Given the description of an element on the screen output the (x, y) to click on. 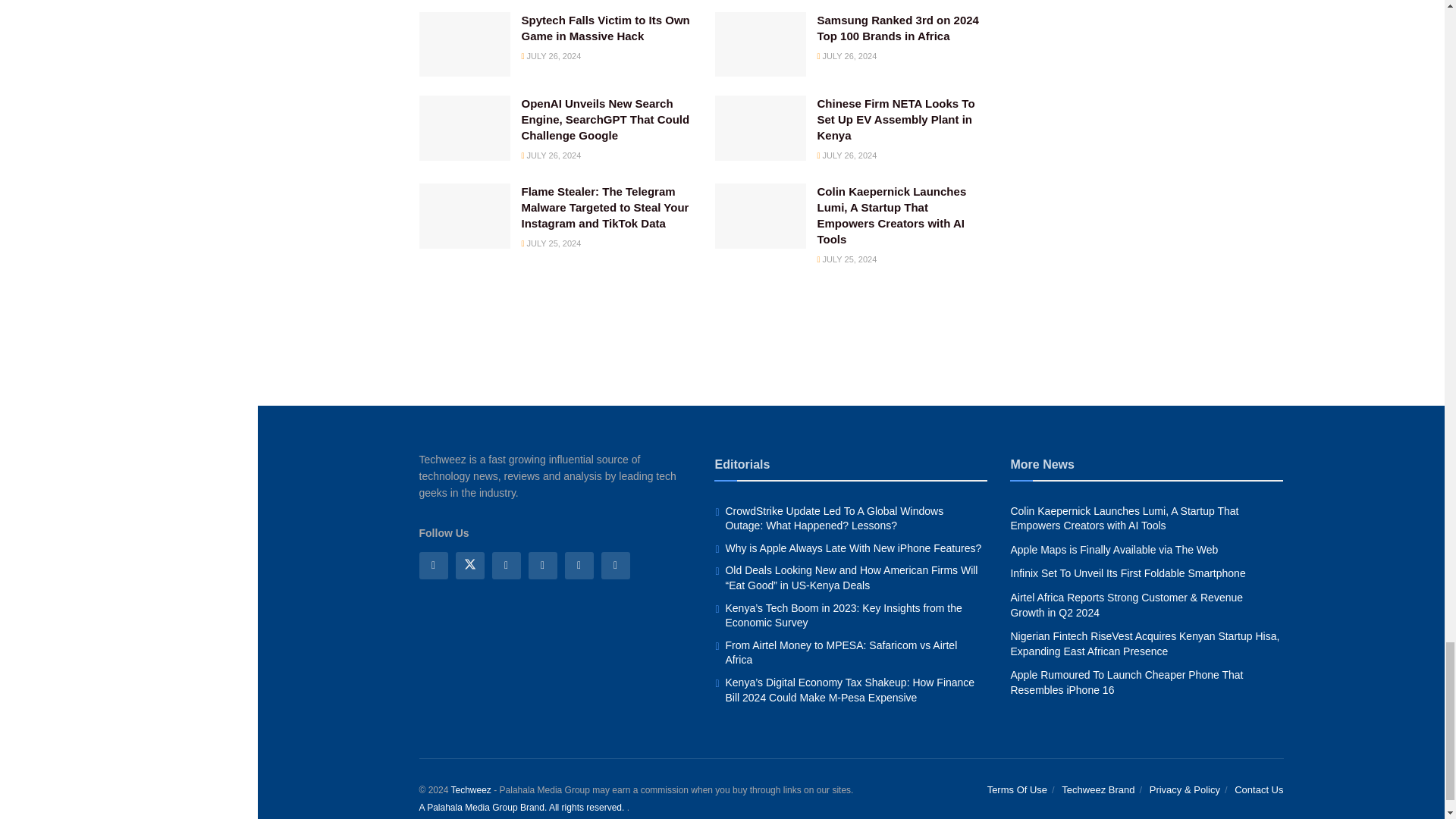
Techweez, a Palahala Media Group Brand. All rights reserved (469, 789)
